Given the description of an element on the screen output the (x, y) to click on. 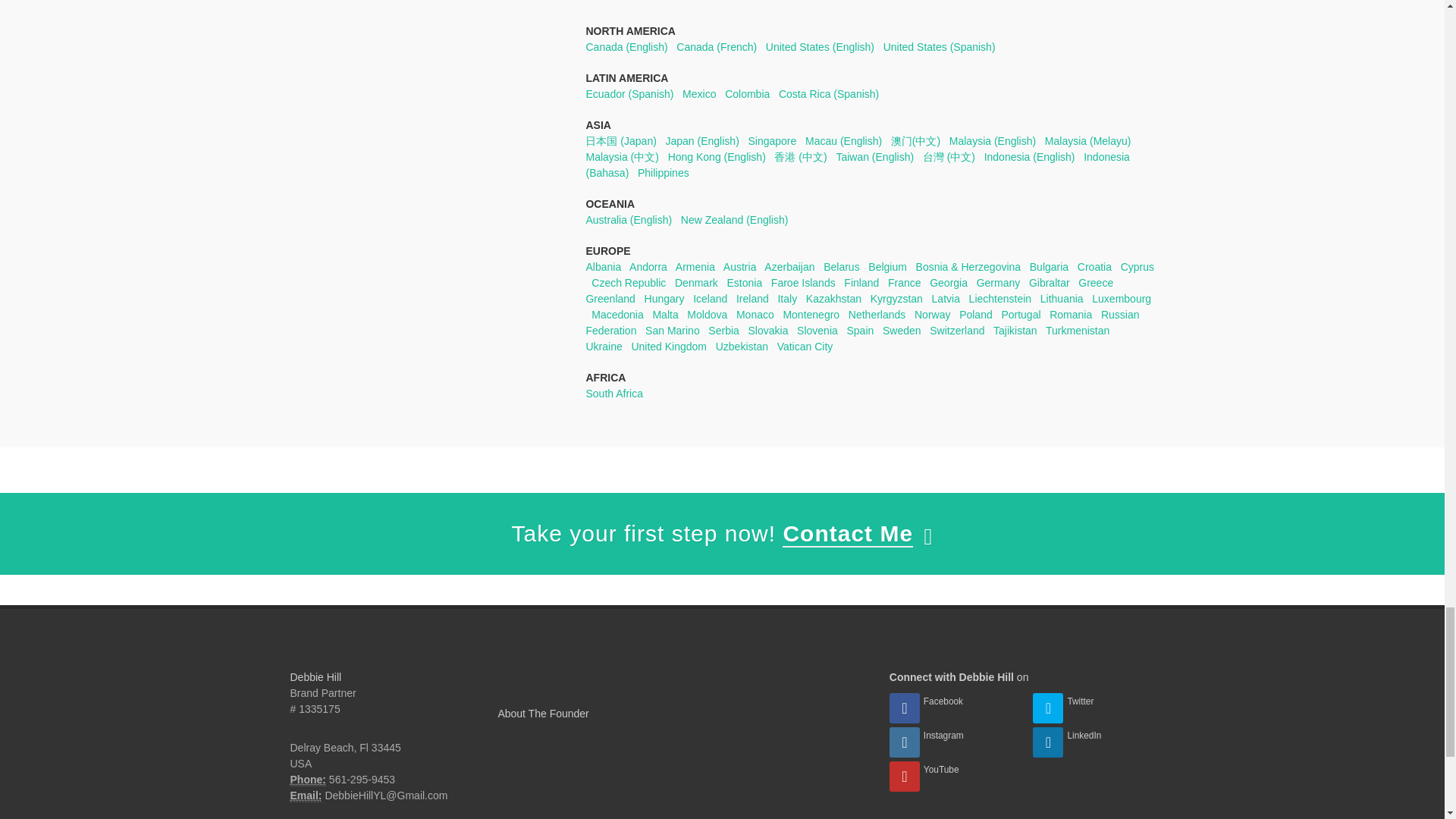
Singapore (772, 141)
Phone Number (306, 779)
Mexico (699, 93)
Colombia (747, 93)
Email Address (305, 795)
